Given the description of an element on the screen output the (x, y) to click on. 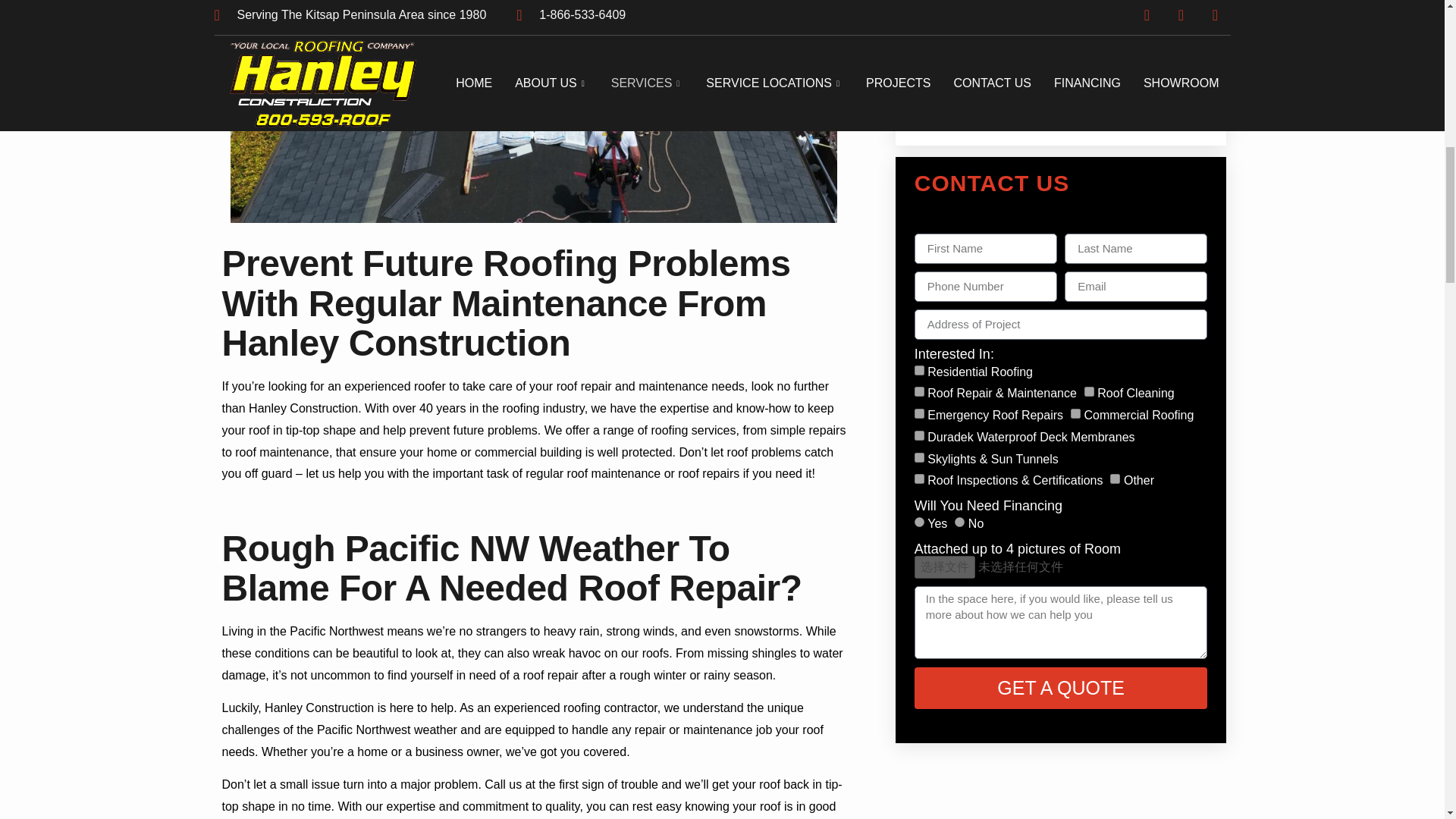
Other (1114, 479)
Yes (919, 521)
Roof Cleaning (1089, 391)
No (959, 521)
Residential Roofing (919, 370)
Duradek Waterproof Deck Membranes (919, 435)
Commercial Roofing (1075, 413)
Emergency Roof Repairs (919, 413)
